Given the description of an element on the screen output the (x, y) to click on. 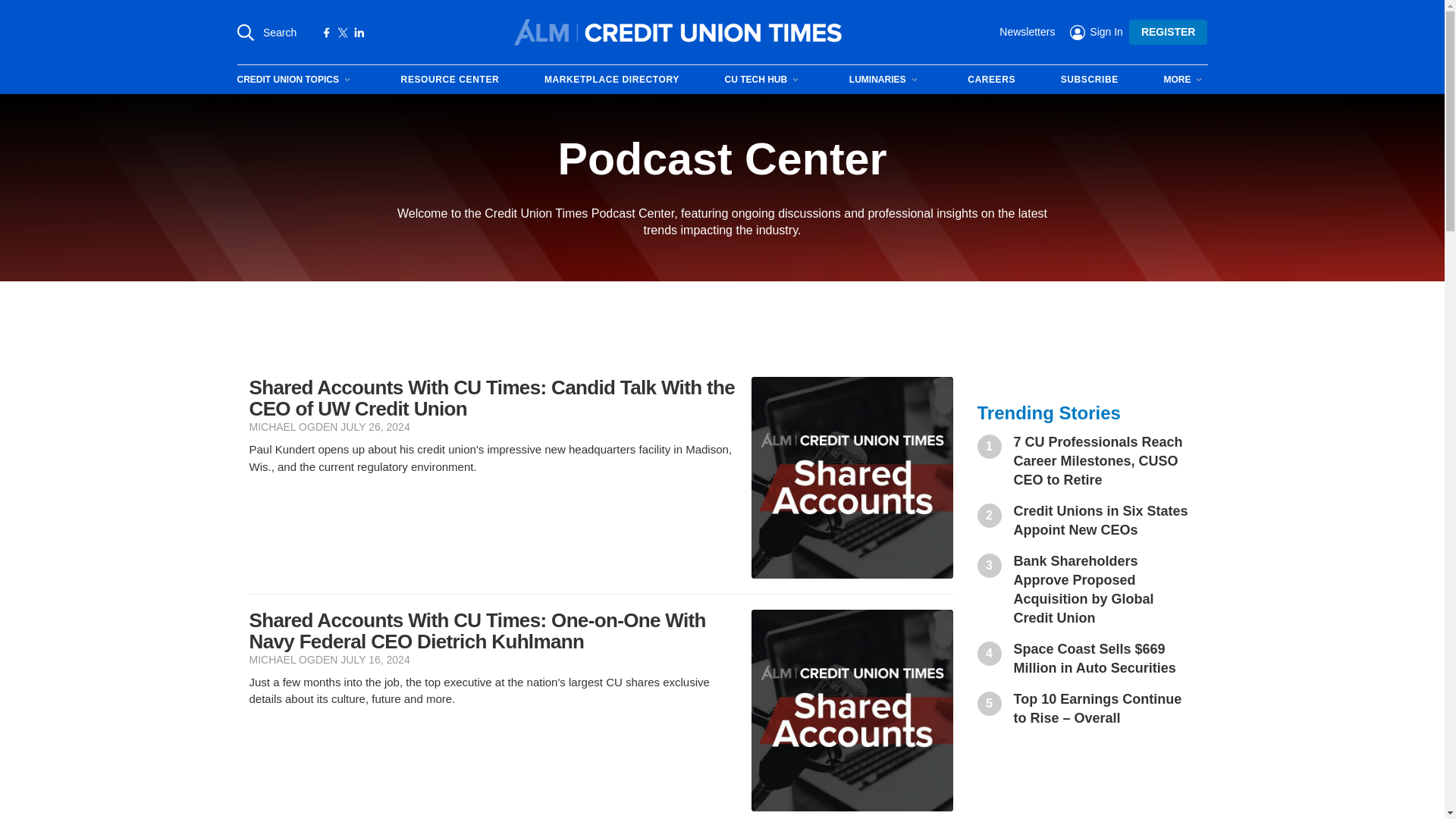
RESOURCE CENTER (450, 79)
Sign In (1096, 31)
CAREERS (991, 79)
MORE (1185, 79)
REGISTER (1168, 32)
Search (266, 31)
SUBSCRIBE (1089, 79)
MARKETPLACE DIRECTORY (611, 79)
Newsletters (1027, 32)
LUMINARIES (885, 79)
